Given the description of an element on the screen output the (x, y) to click on. 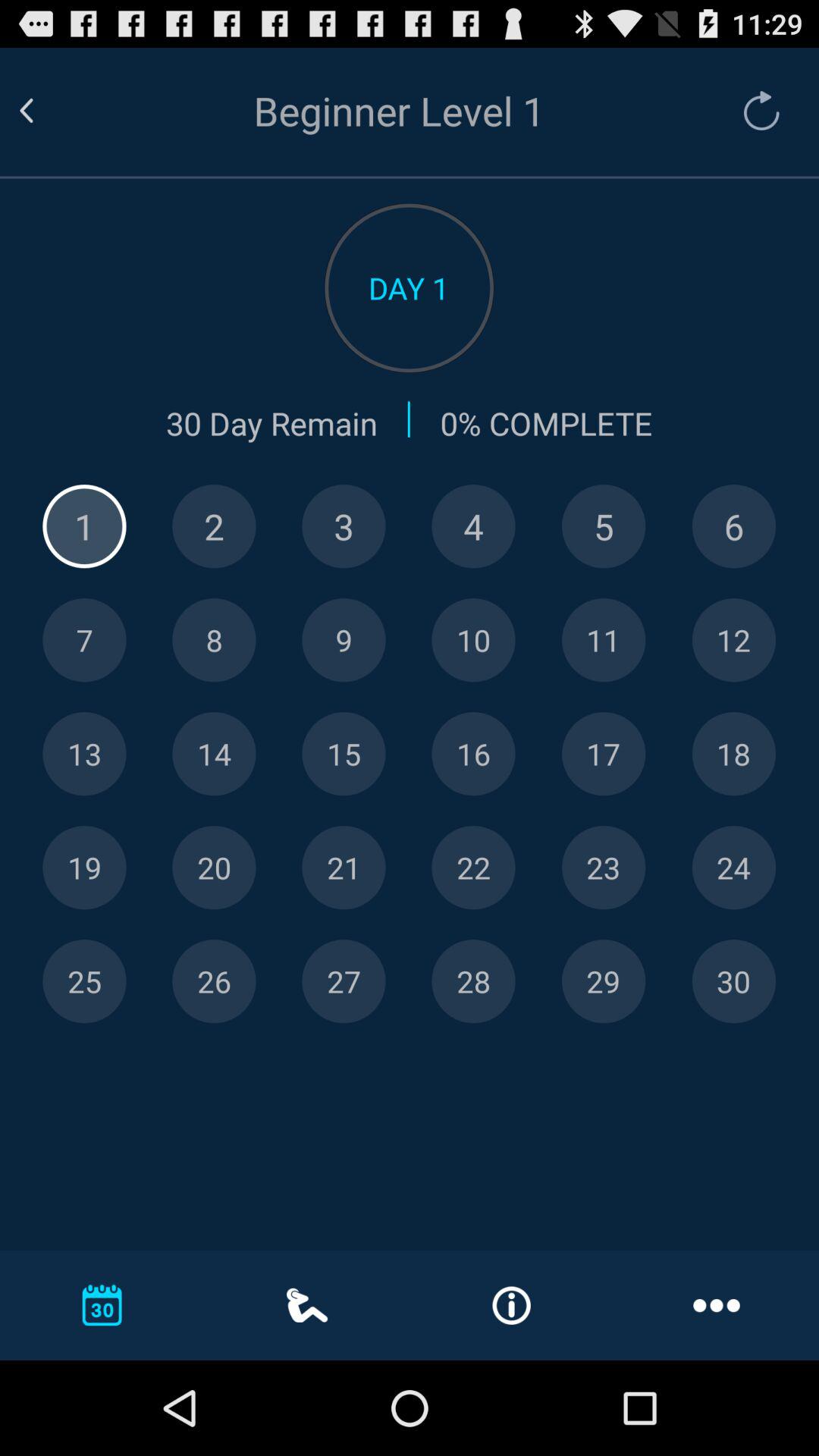
day select button (603, 867)
